Given the description of an element on the screen output the (x, y) to click on. 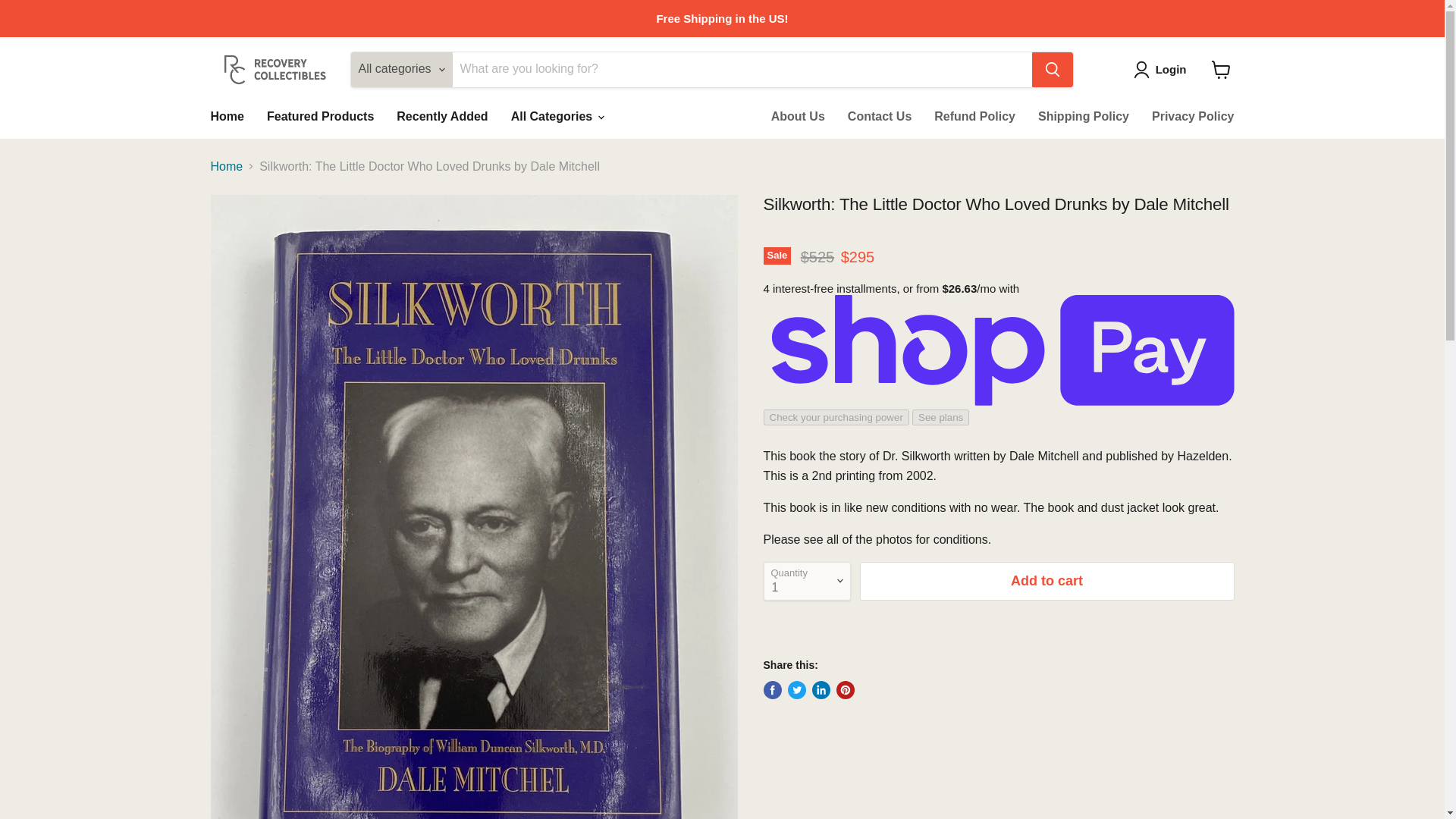
Login (1171, 69)
Recently Added (442, 115)
Home (226, 115)
About Us (797, 115)
Featured Products (320, 115)
View cart (1221, 69)
